Given the description of an element on the screen output the (x, y) to click on. 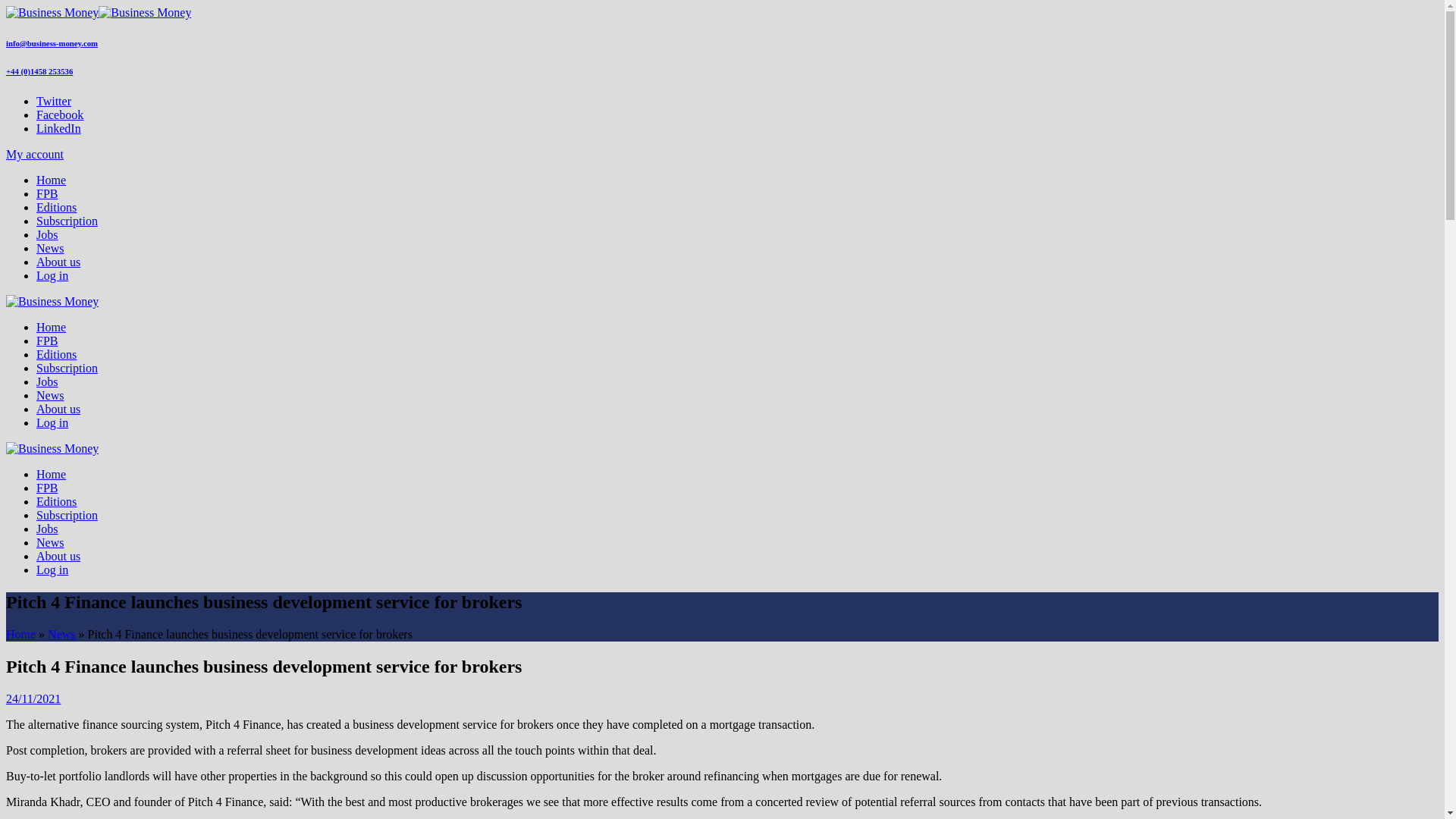
My account (34, 154)
Facebook (59, 114)
Home (19, 634)
LinkedIn (58, 128)
FPB (47, 340)
Log in (52, 569)
Log in (52, 422)
Jobs (47, 234)
About us (58, 261)
Business Money (97, 11)
About us (58, 408)
Business Money (52, 448)
Subscription (66, 220)
Subscription (66, 367)
Home (50, 473)
